Given the description of an element on the screen output the (x, y) to click on. 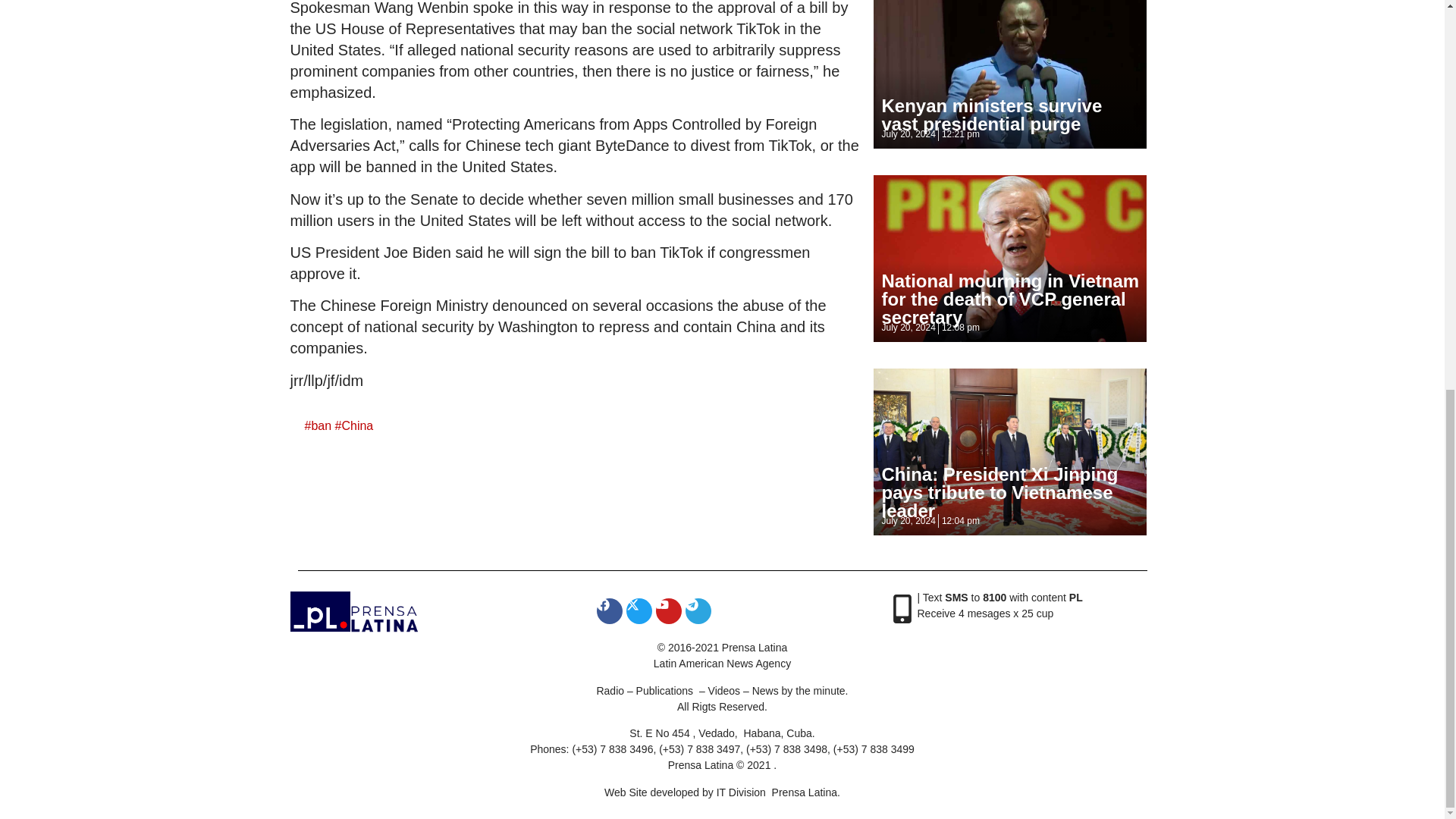
July 20, 2024 (907, 133)
July 20, 2024 (907, 327)
ban (321, 425)
Kenyan ministers survive vast presidential purge (991, 114)
China (356, 425)
